Given the description of an element on the screen output the (x, y) to click on. 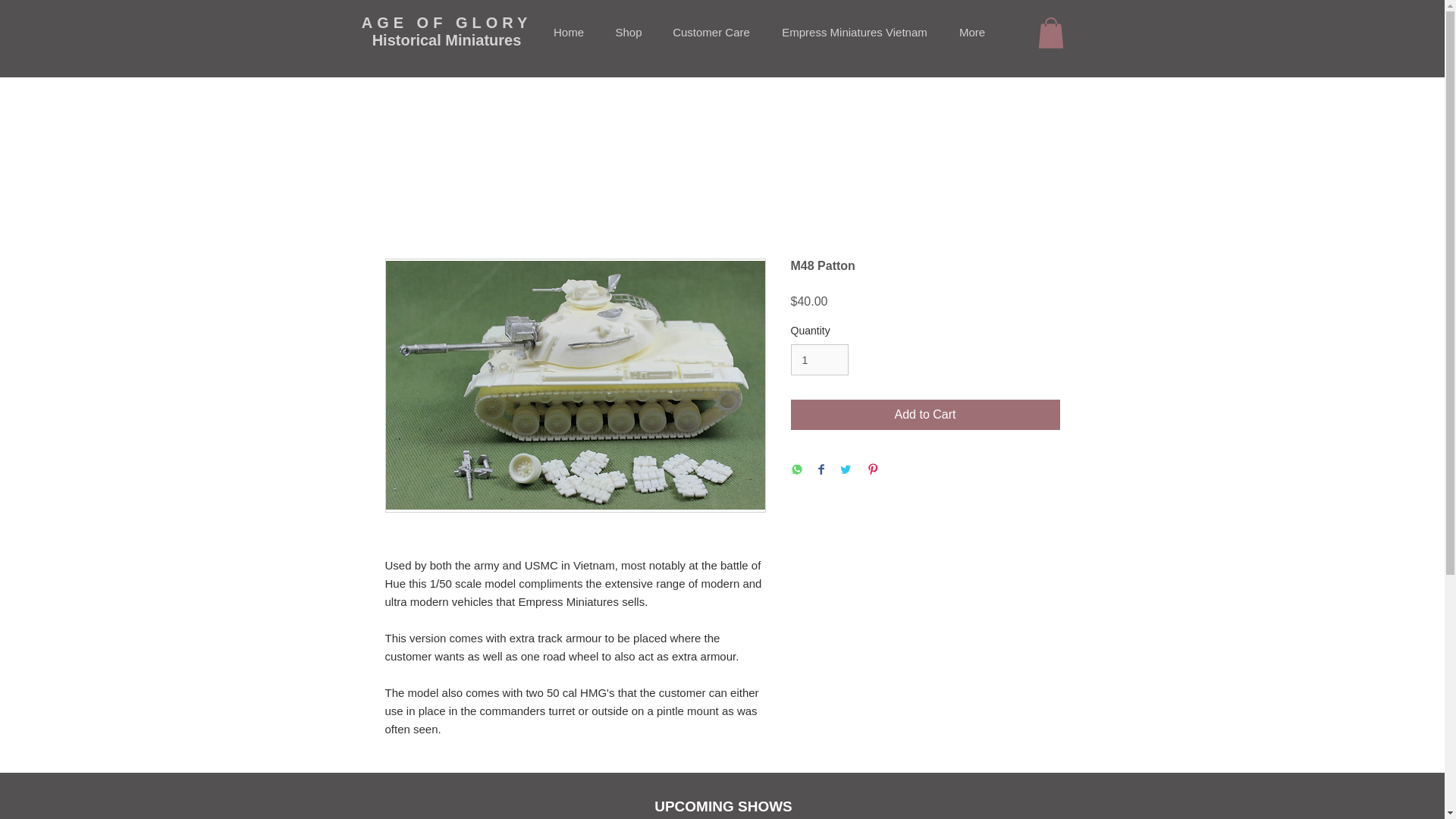
Shop (628, 32)
Empress Miniatures Vietnam (854, 32)
AGE OF GLORY (446, 22)
1 (818, 359)
Home (568, 32)
Customer Care (710, 32)
Add to Cart (924, 414)
